Given the description of an element on the screen output the (x, y) to click on. 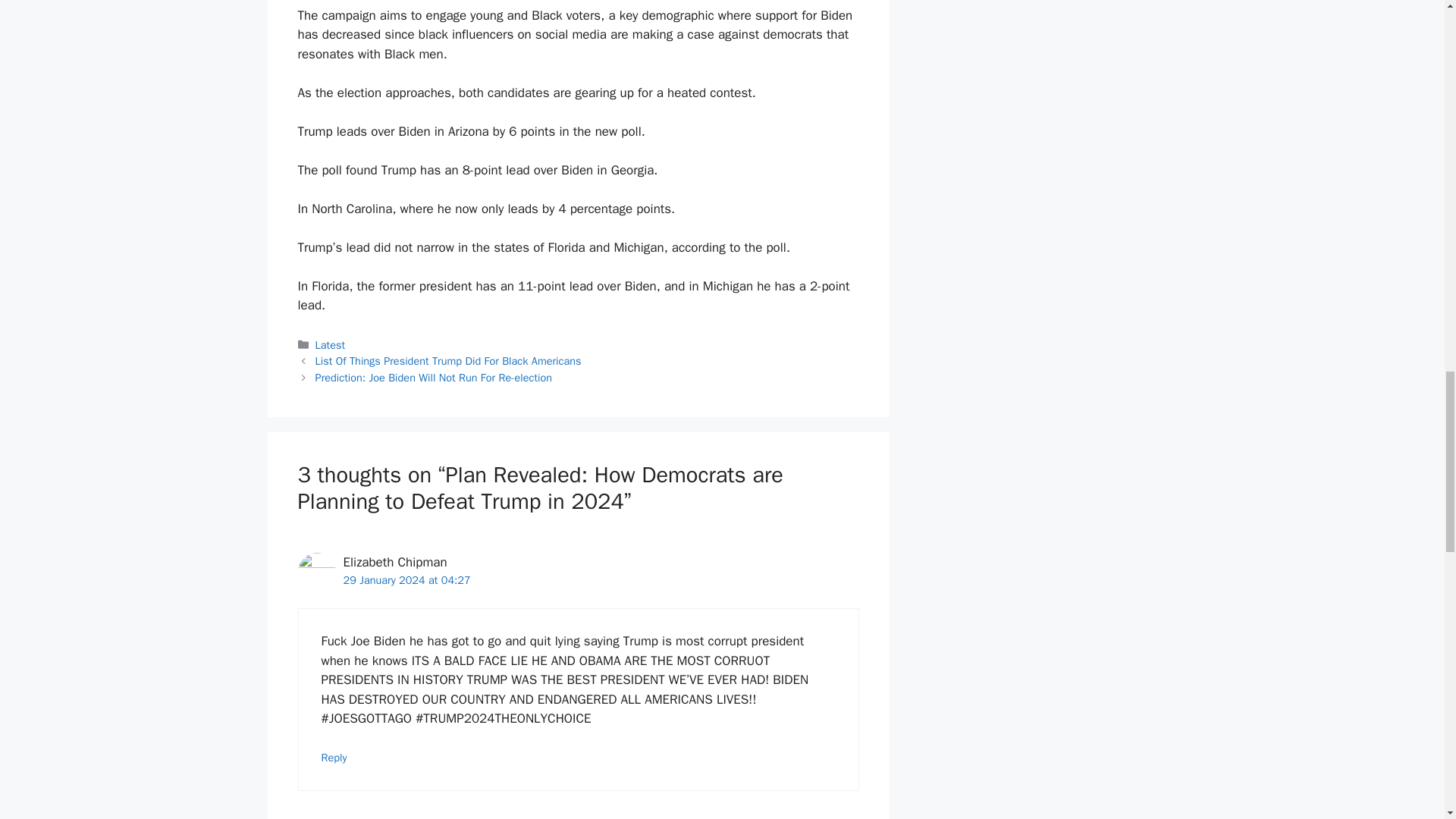
Prediction: Joe Biden Will Not Run For Re-election (434, 377)
List Of Things President Trump Did For Black Americans (447, 360)
Reply (334, 757)
Latest (330, 345)
29 January 2024 at 04:27 (406, 580)
